Given the description of an element on the screen output the (x, y) to click on. 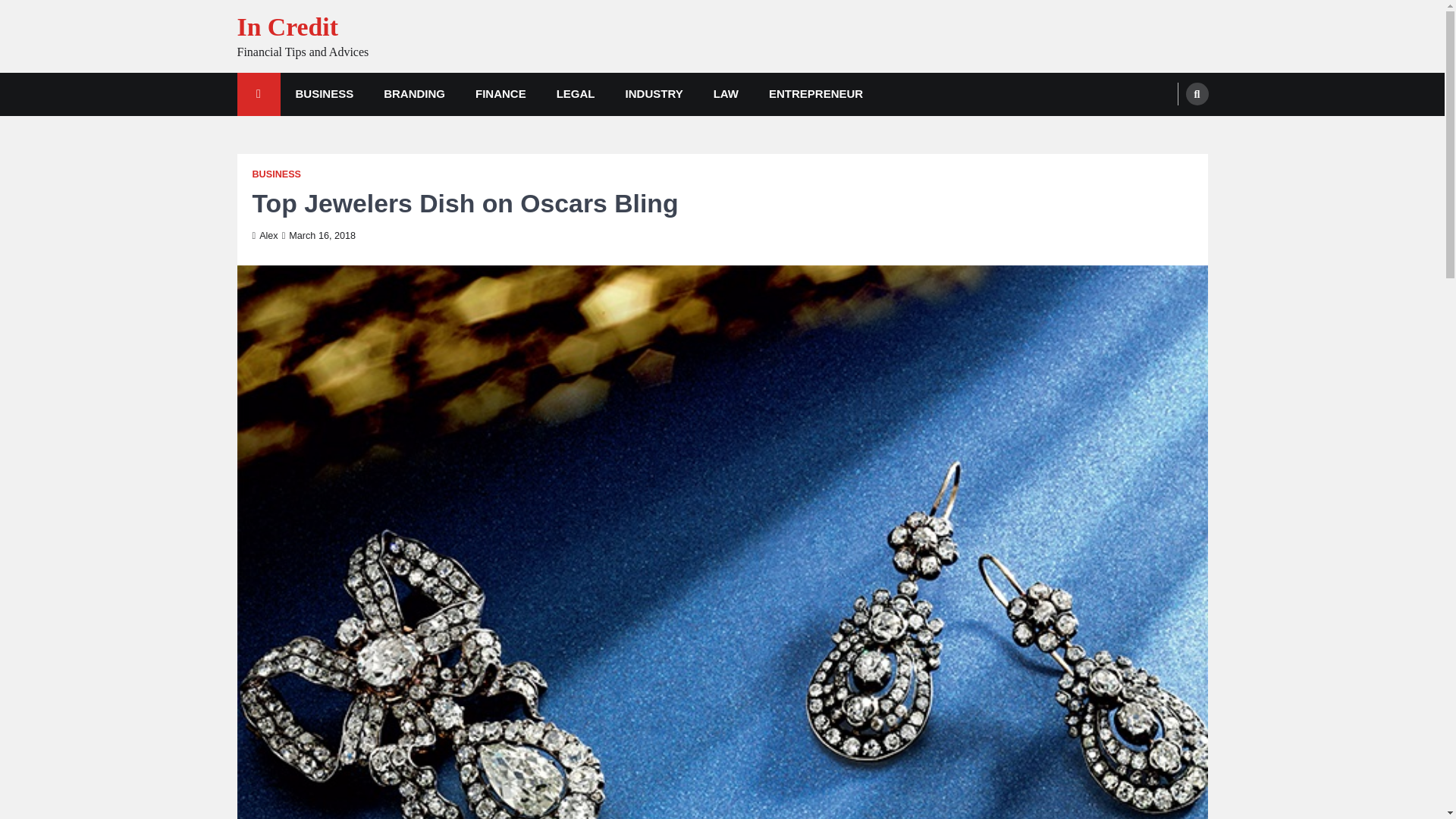
Search (1197, 93)
LEGAL (575, 94)
BRANDING (414, 94)
In Credit (286, 26)
FINANCE (500, 94)
INDUSTRY (654, 94)
BUSINESS (325, 94)
Search (1168, 129)
March 16, 2018 (318, 235)
Alex (264, 235)
LAW (726, 94)
ENTREPRENEUR (815, 94)
BUSINESS (276, 174)
